Given the description of an element on the screen output the (x, y) to click on. 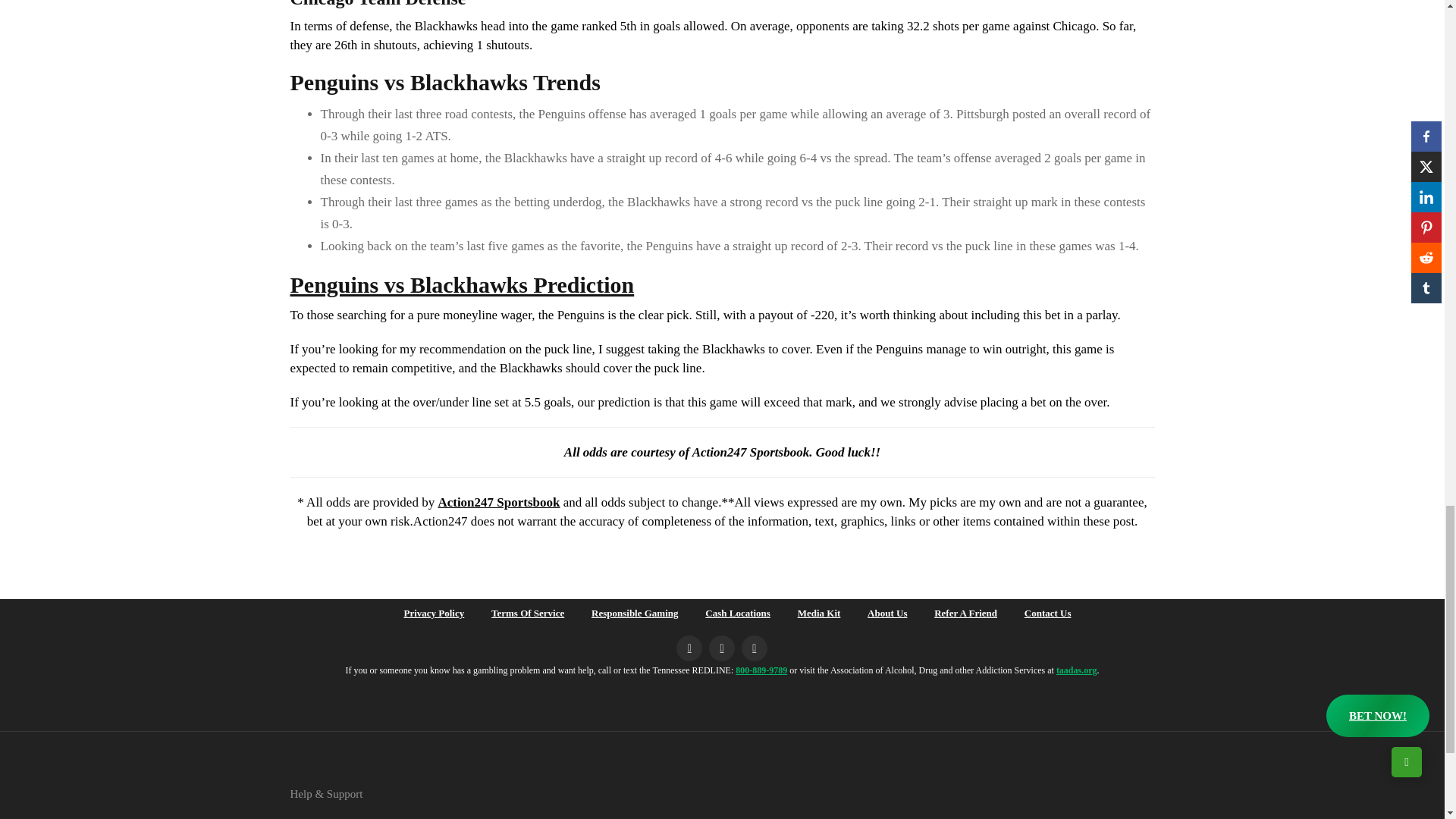
Action247 Sportsbook (498, 502)
Penguins vs Blackhawks Prediction (461, 284)
